Given the description of an element on the screen output the (x, y) to click on. 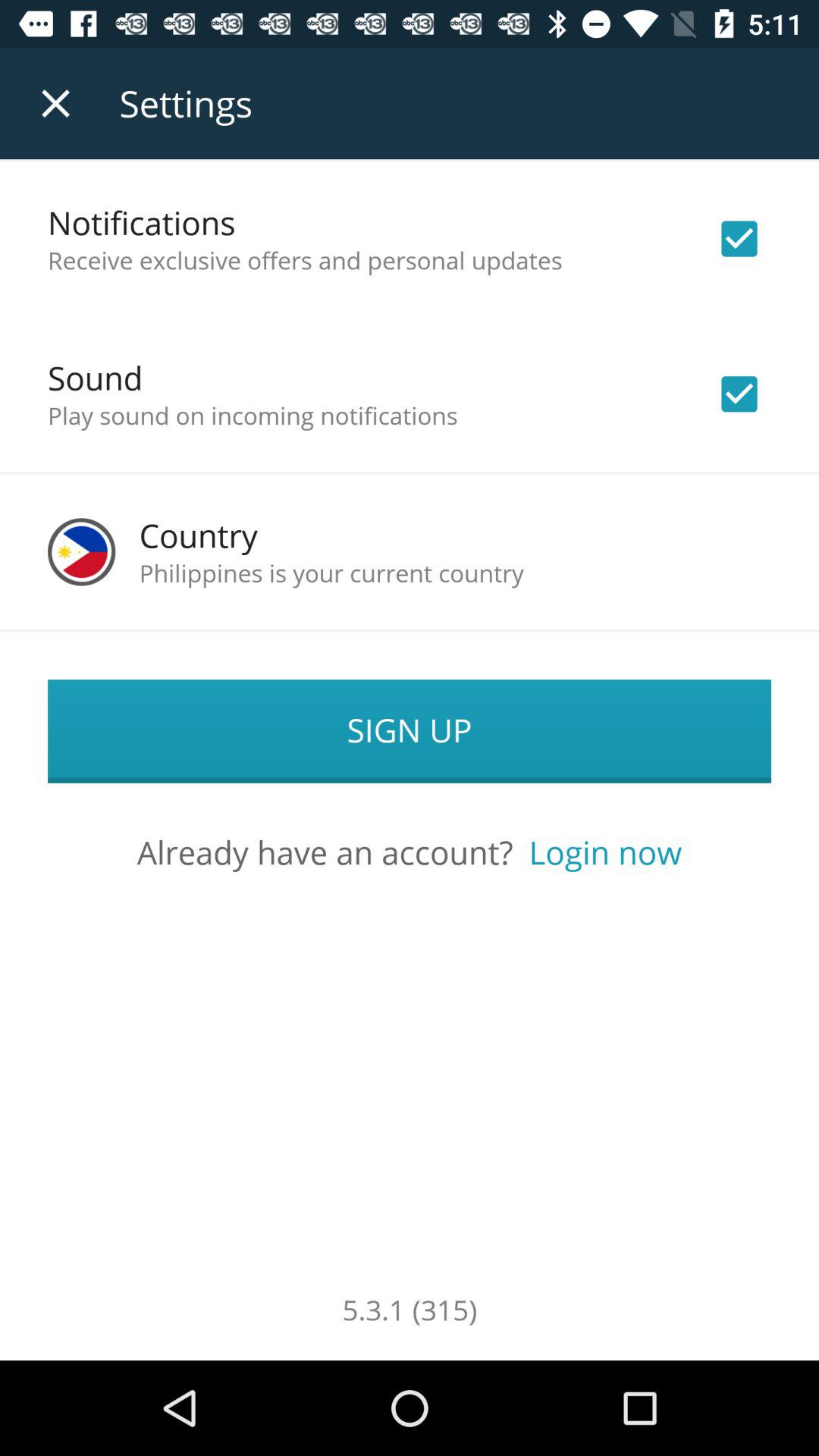
select the item next to settings (55, 103)
